Given the description of an element on the screen output the (x, y) to click on. 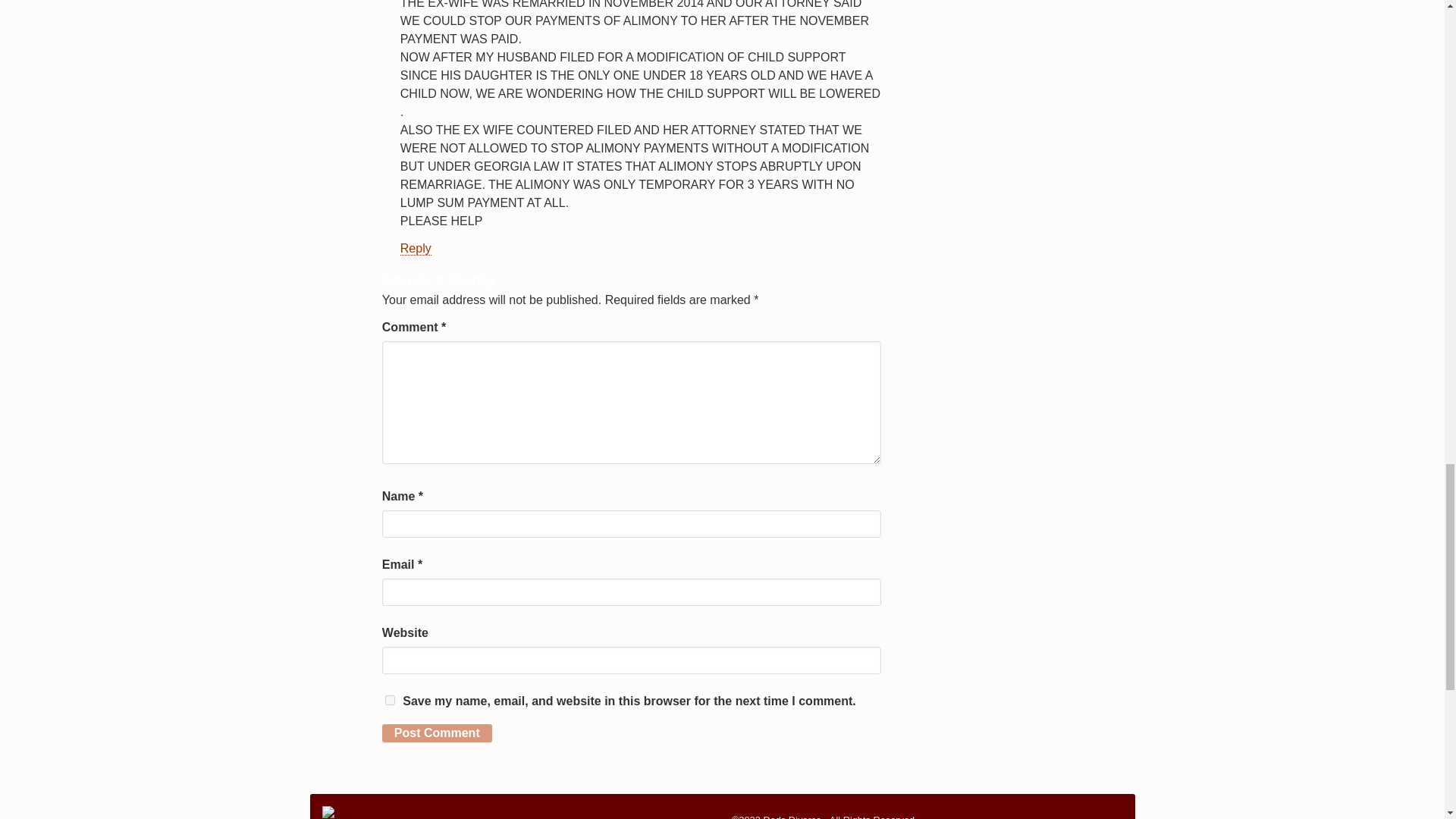
yes (389, 700)
Reply (415, 248)
Post Comment (436, 732)
Post Comment (436, 732)
